Given the description of an element on the screen output the (x, y) to click on. 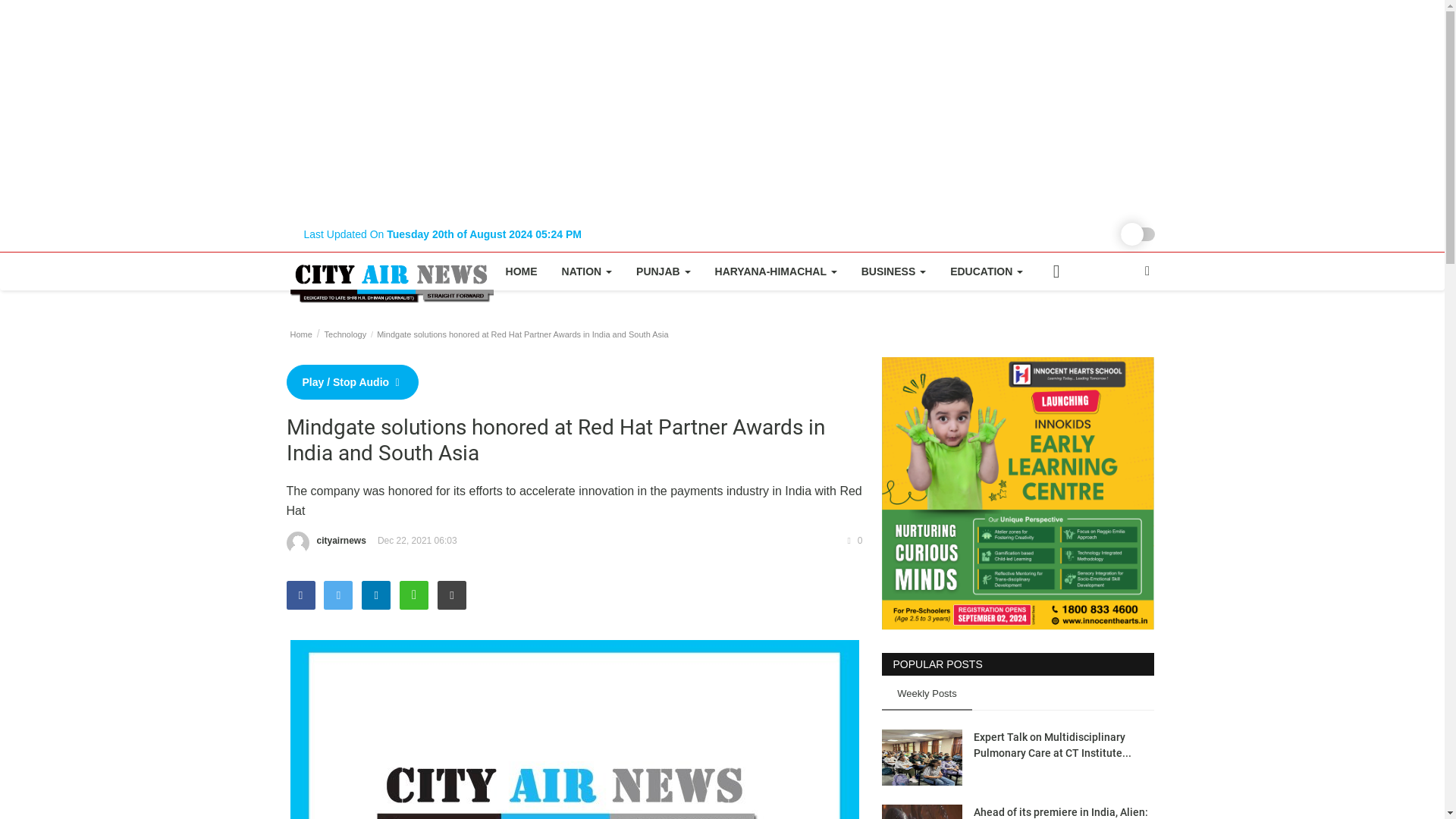
HOME (521, 271)
PUNJAB (662, 271)
Last Updated On Tuesday 20th of August 2024 05:24 PM (442, 233)
NATION (587, 271)
